Given the description of an element on the screen output the (x, y) to click on. 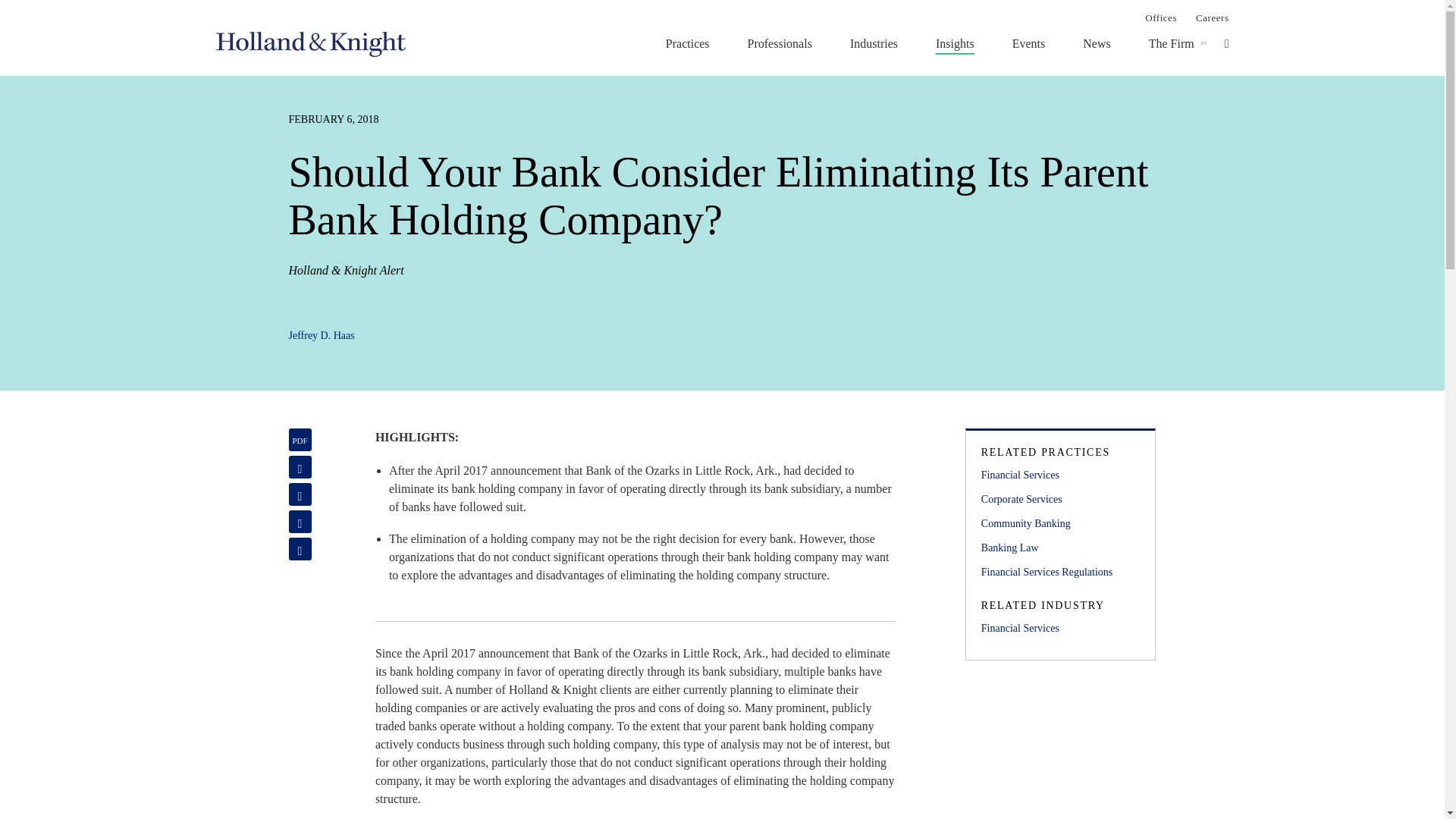
The Firm (1170, 43)
Jeffrey D. Haas (320, 335)
Industries (874, 42)
News (1096, 42)
Offices (1160, 16)
Events (1028, 42)
Professionals (780, 42)
Practices (687, 42)
Insights (955, 42)
Careers (1211, 16)
